Given the description of an element on the screen output the (x, y) to click on. 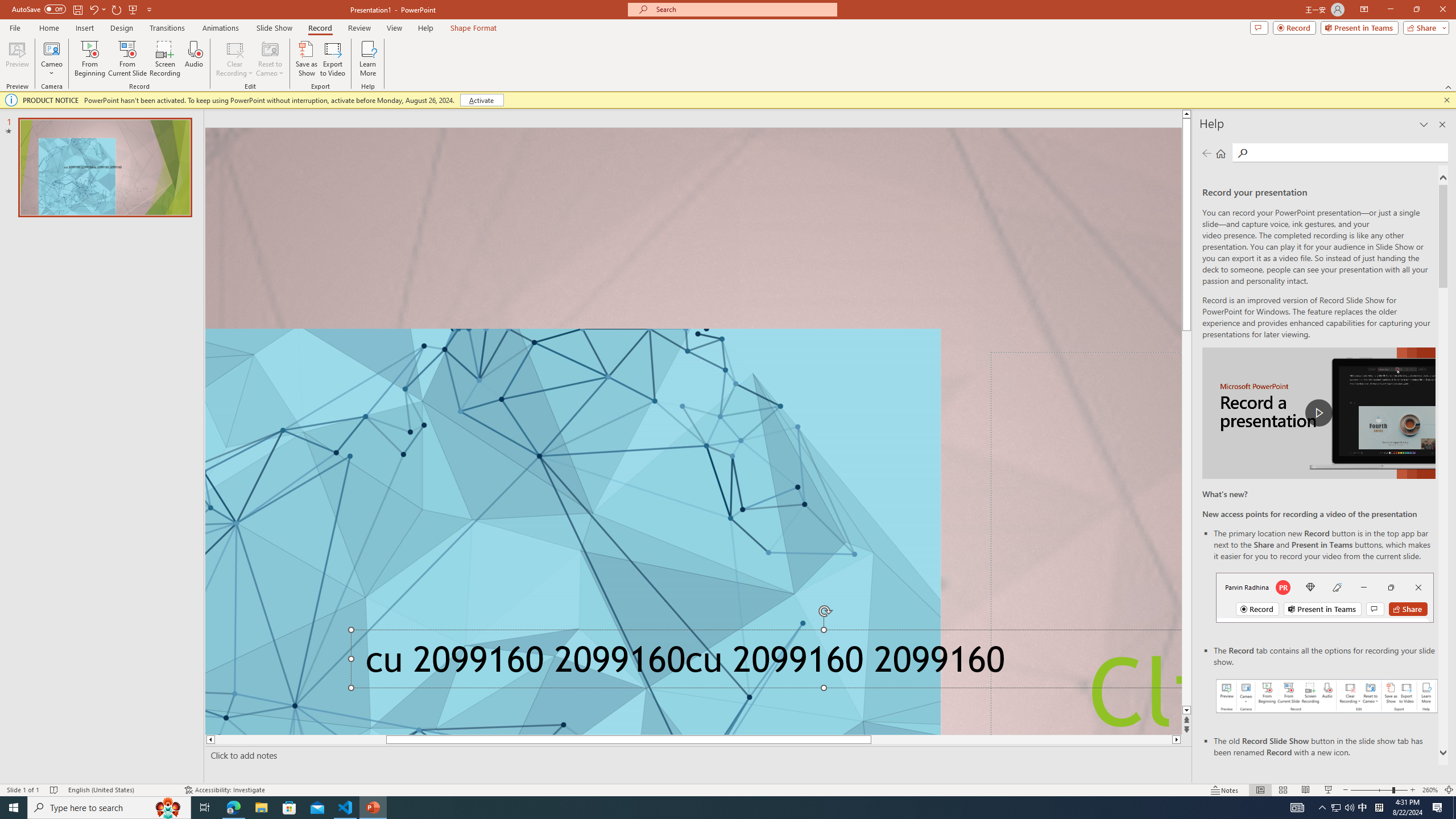
Activate (481, 100)
Line down (1186, 710)
Page down (1186, 612)
Title TextBox (1086, 543)
